Given the description of an element on the screen output the (x, y) to click on. 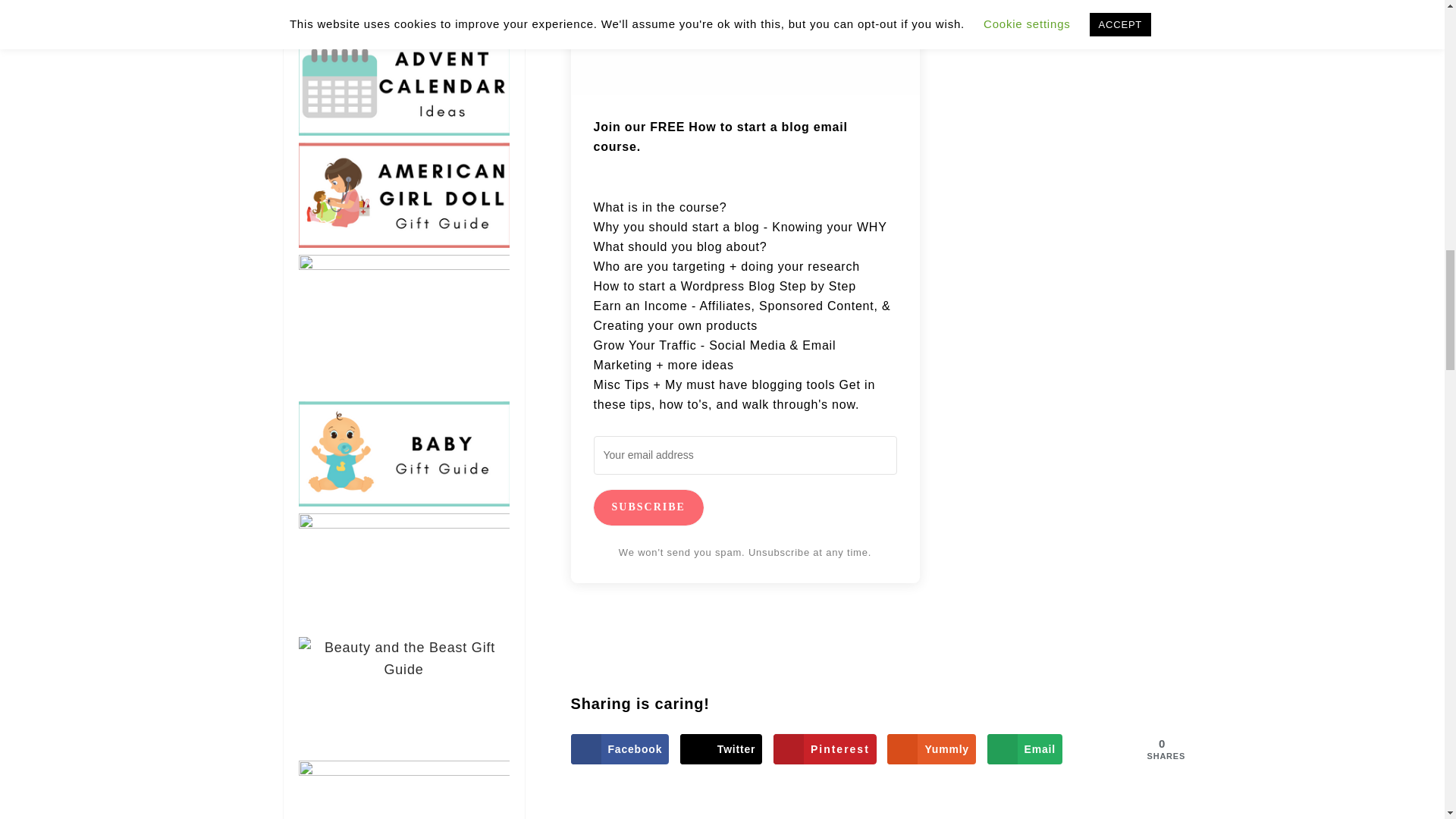
Twitter (720, 748)
Yummly (930, 748)
Email (1024, 748)
Facebook (619, 748)
SUBSCRIBE (647, 507)
Pinterest (824, 748)
